Given the description of an element on the screen output the (x, y) to click on. 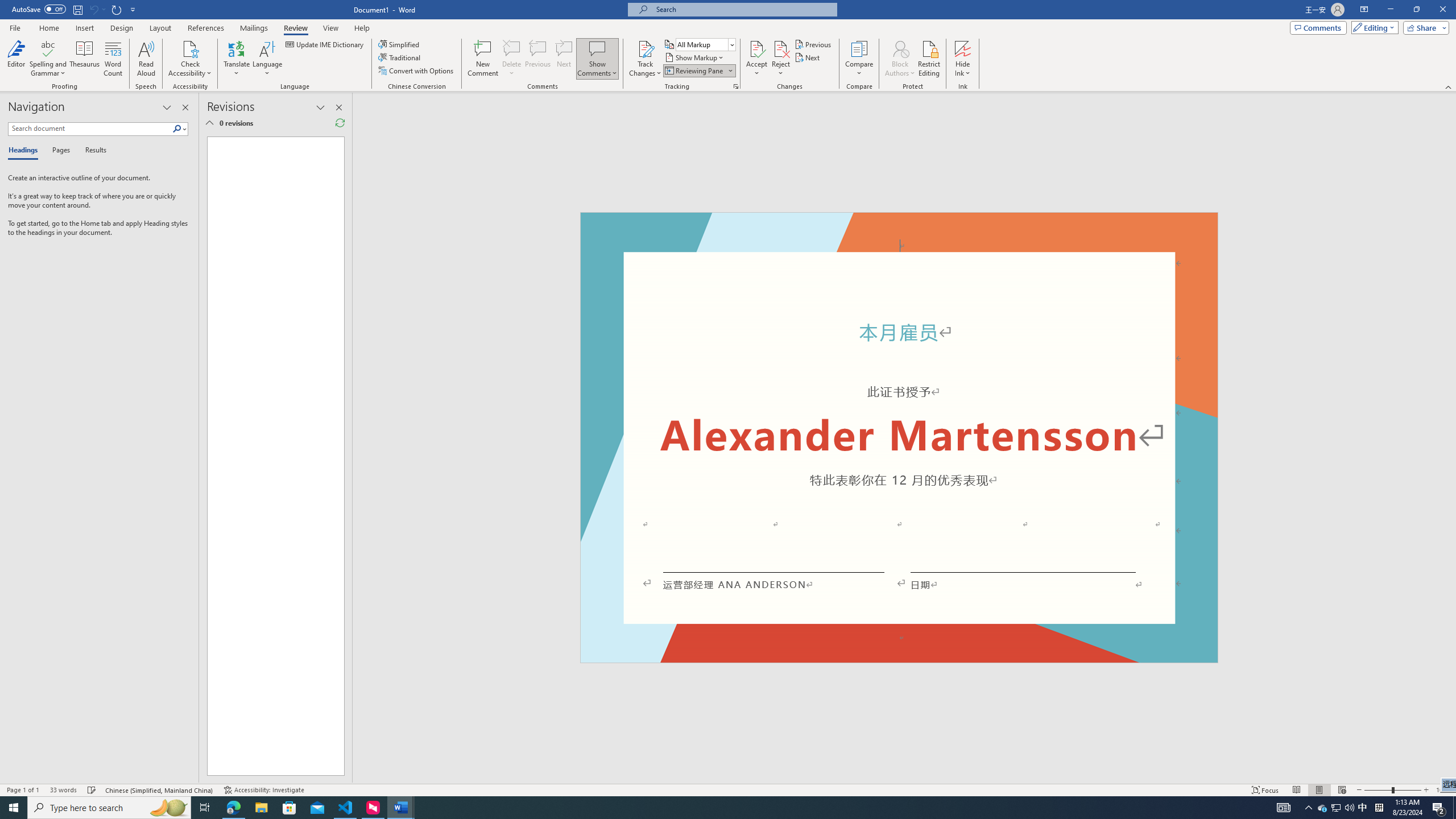
Zoom (1392, 790)
Reviewing Pane (698, 69)
Reviewing Pane (694, 69)
Language (267, 58)
Results (91, 150)
Convert with Options... (417, 69)
Check Accessibility (189, 58)
Restrict Editing (929, 58)
Close pane (185, 107)
